Given the description of an element on the screen output the (x, y) to click on. 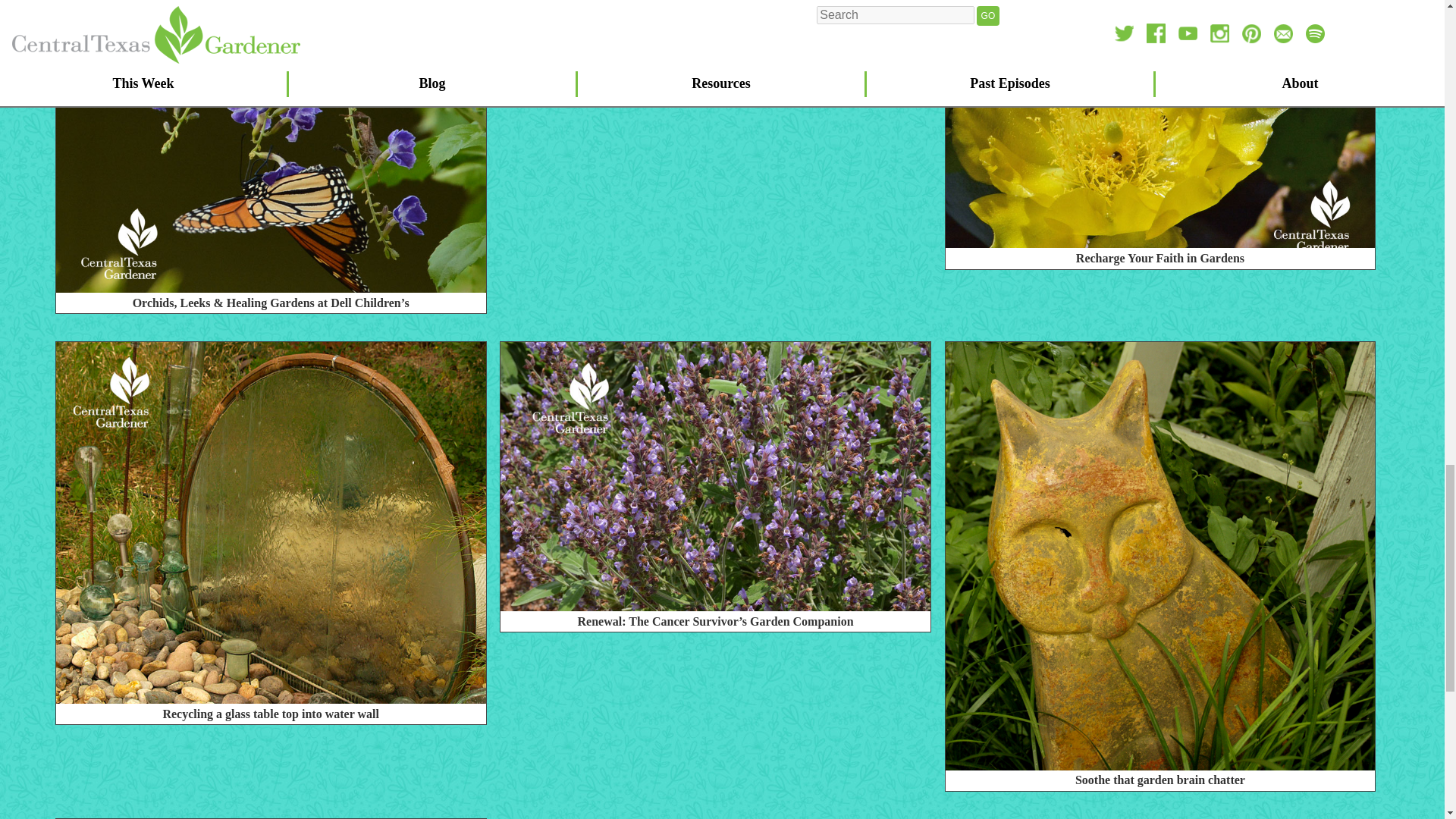
Soothe that garden brain chatter (1159, 783)
Recharge Your Faith in Gardens (1159, 261)
Recycling a glass table top into water wall (271, 716)
